Given the description of an element on the screen output the (x, y) to click on. 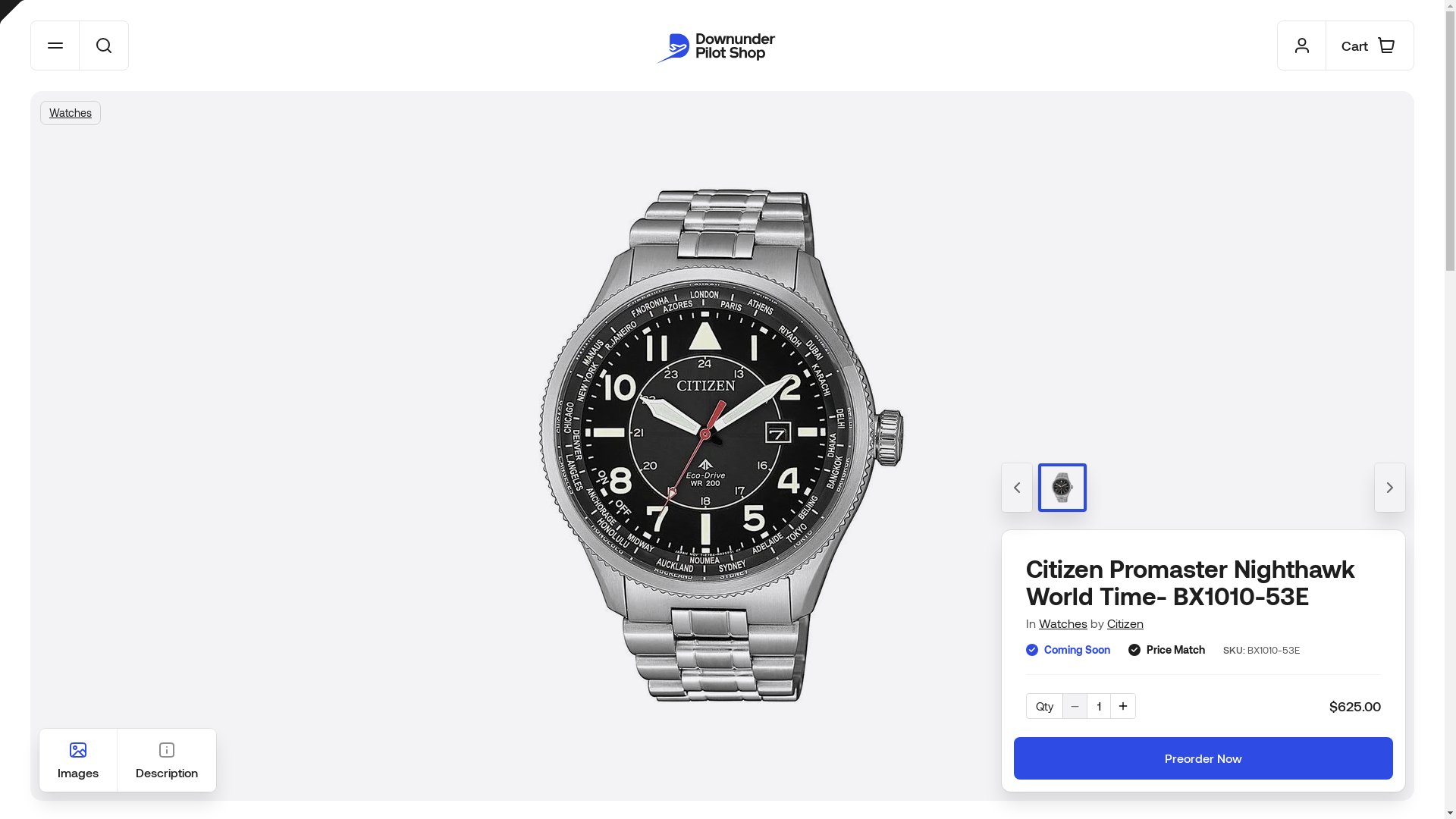
Watches Element type: text (1062, 623)
Watches Element type: text (70, 112)
Description Element type: text (166, 759)
Citizen Element type: text (1125, 623)
Preorder Now Element type: text (1203, 758)
Images Element type: text (77, 759)
